Given the description of an element on the screen output the (x, y) to click on. 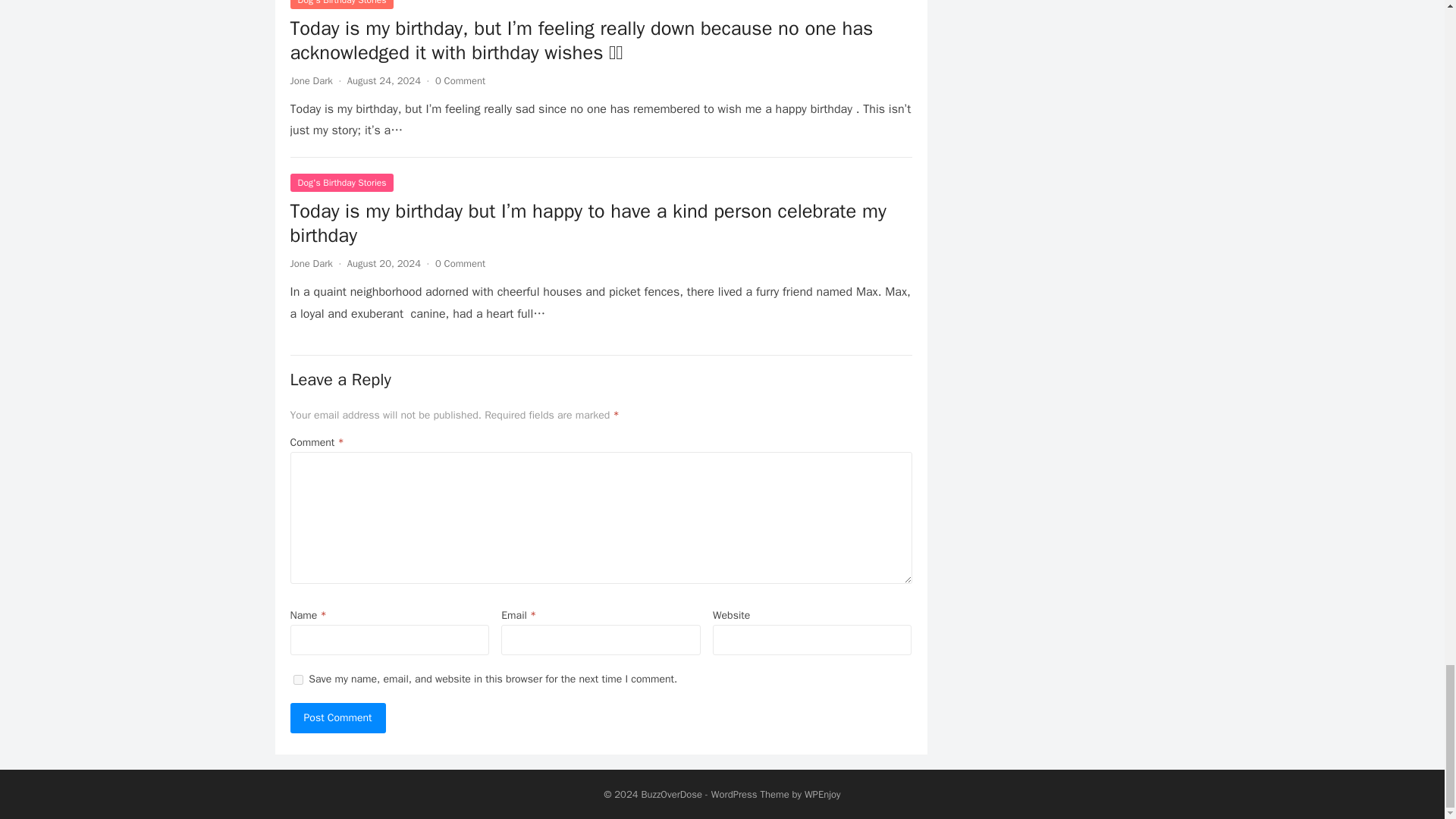
Posts by Jone Dark (310, 80)
yes (297, 679)
Dog's Birthday Stories (341, 4)
Post Comment (337, 717)
Posts by Jone Dark (310, 263)
